Given the description of an element on the screen output the (x, y) to click on. 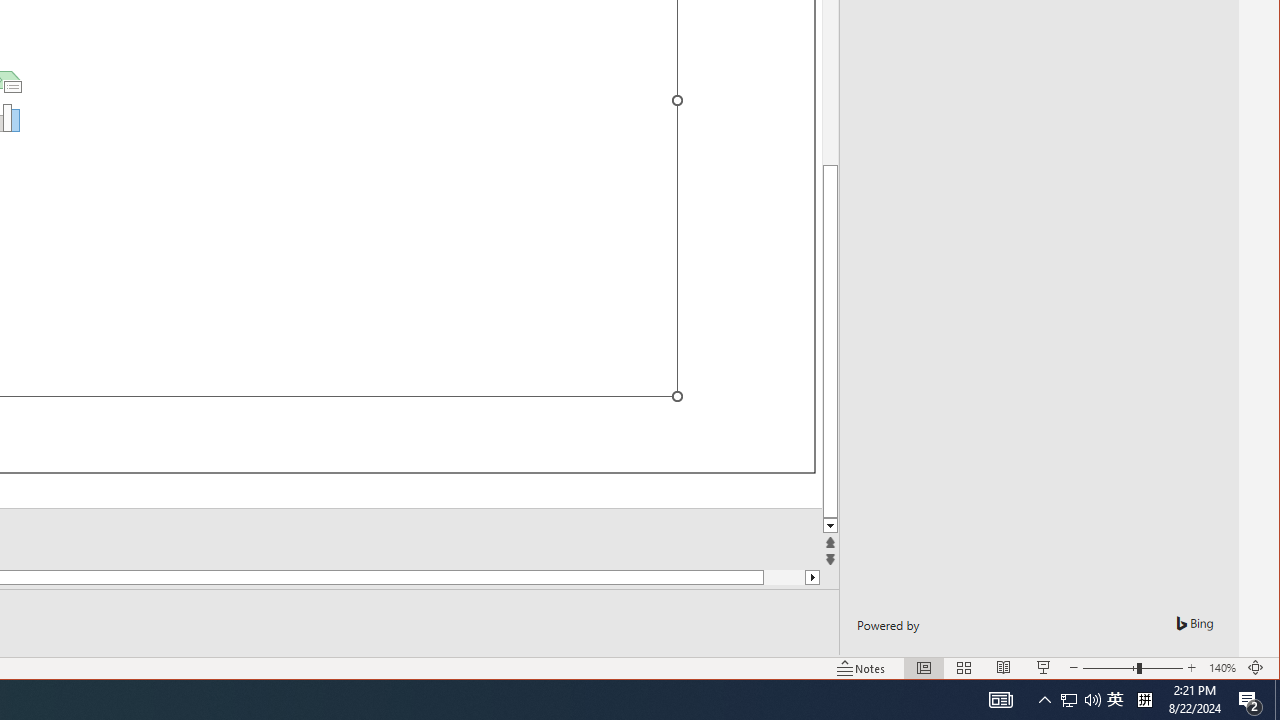
Zoom 140% (1222, 668)
